Given the description of an element on the screen output the (x, y) to click on. 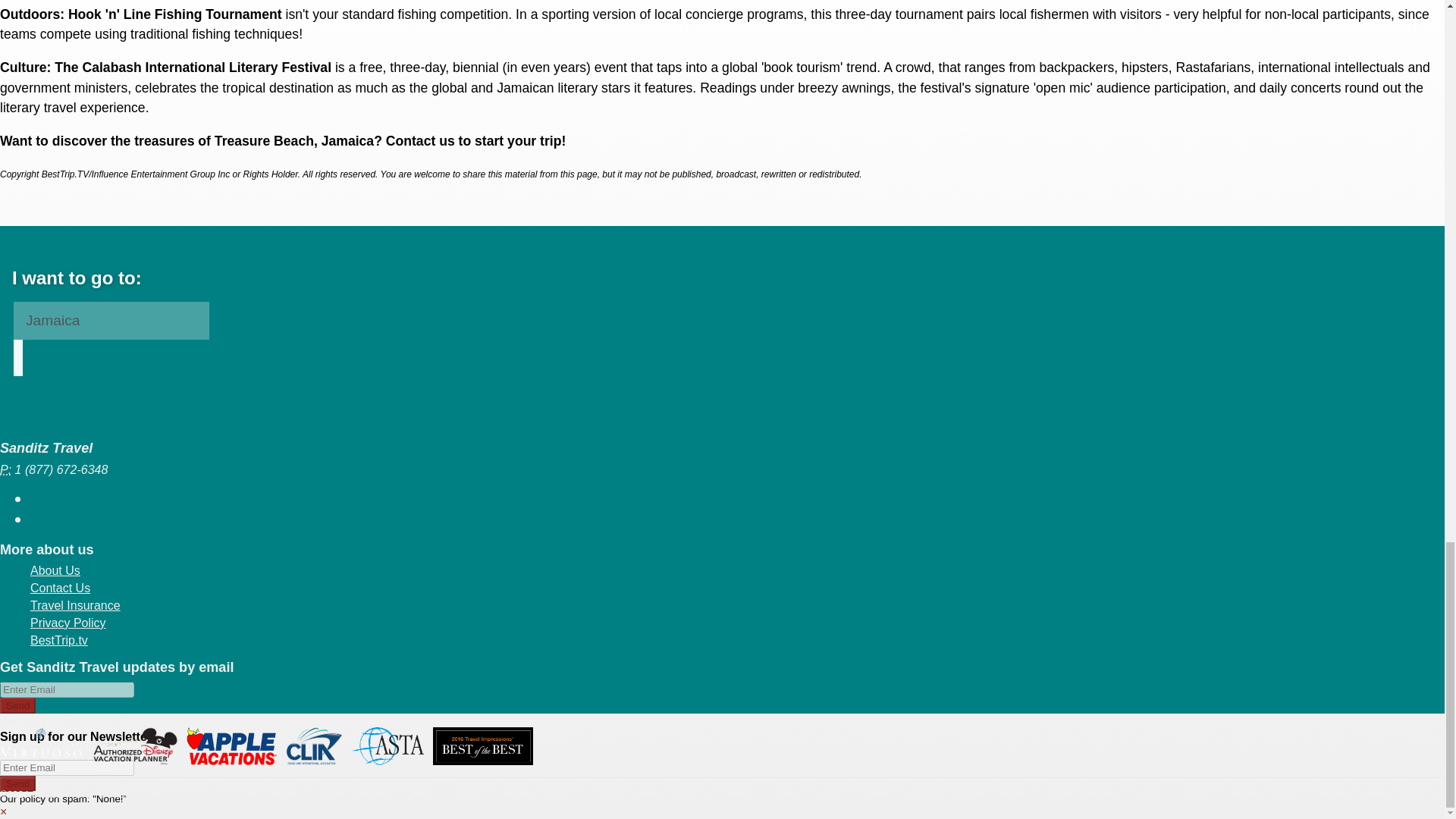
Virtuoso (42, 745)
Disney Earmarked Agency (135, 745)
Apple Vacations Platinum Agency (231, 745)
2016 Travel Impressions Best of the Best Agency (482, 745)
Jamaica (111, 320)
